Given the description of an element on the screen output the (x, y) to click on. 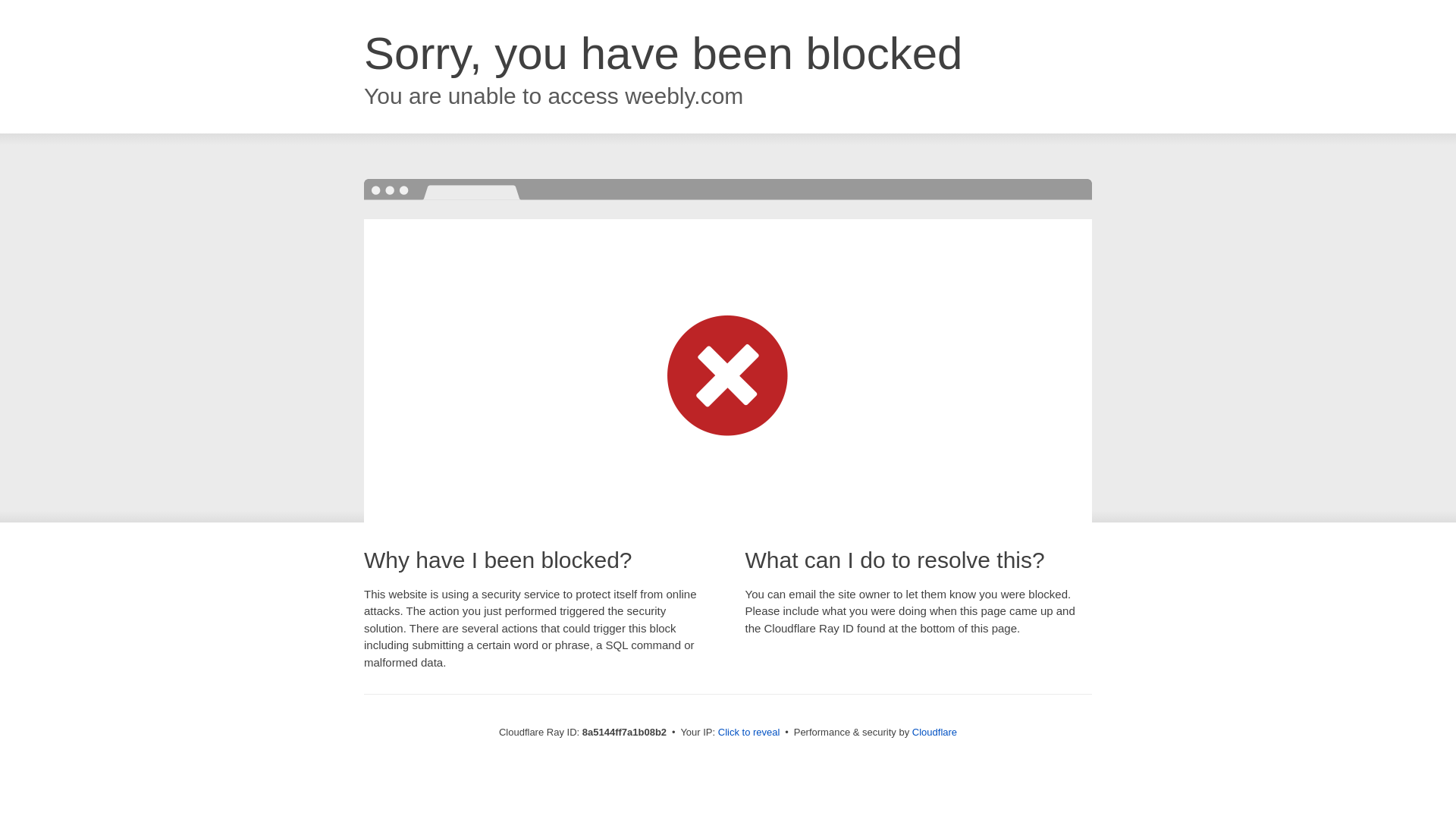
Click to reveal (748, 732)
Cloudflare (934, 731)
